Given the description of an element on the screen output the (x, y) to click on. 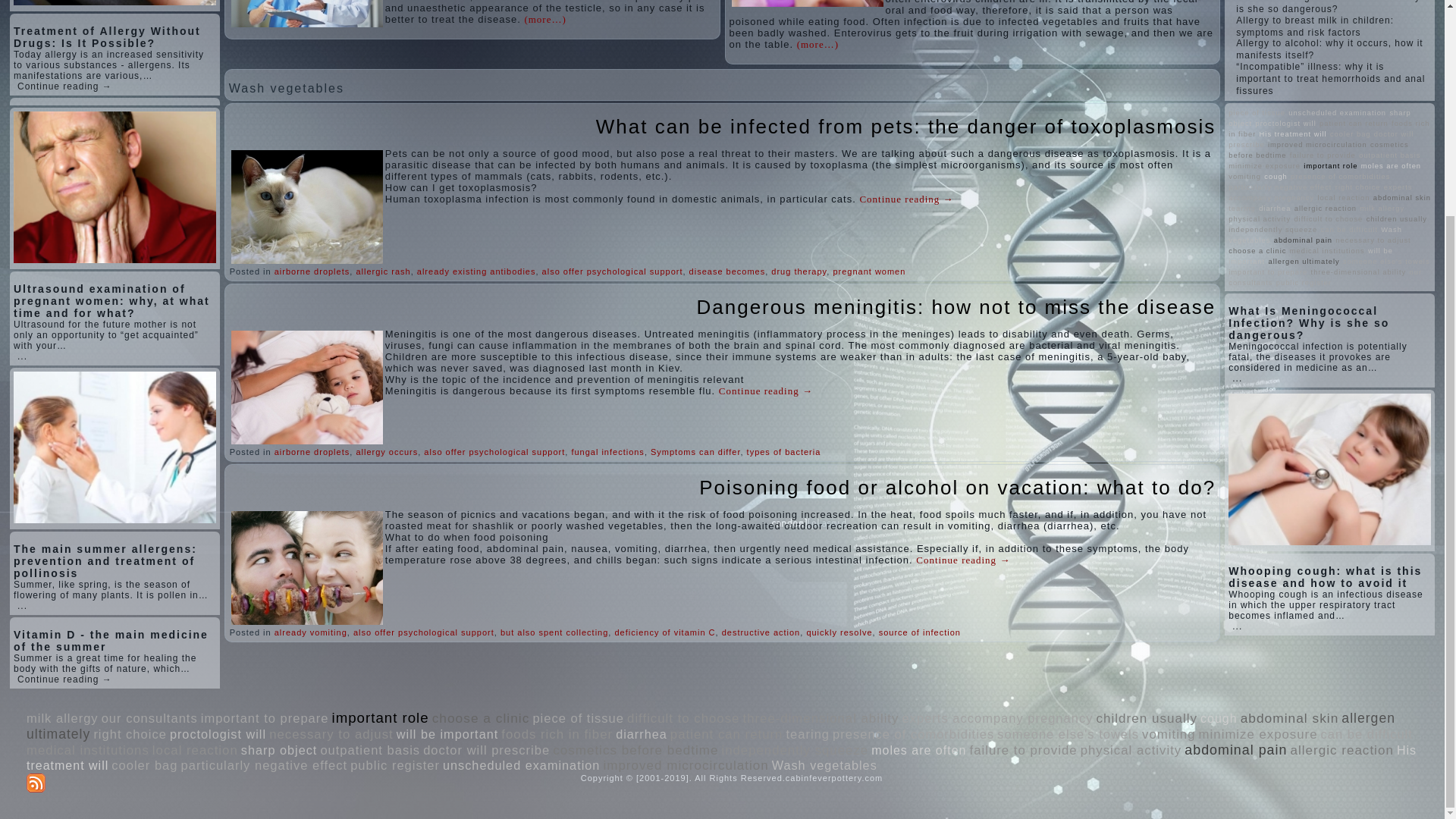
Dangerous meningitis: how not to miss the disease (955, 306)
disease becomes (726, 271)
Poisoning food or alcohol on vacation: what to do? (956, 486)
airborne droplets (312, 271)
Symptoms can differ (694, 451)
Poisoning food or alcohol on vacation: what to do? (956, 486)
fungal infections (607, 451)
... (22, 605)
pregnant women (868, 271)
allergic rash (382, 271)
